Given the description of an element on the screen output the (x, y) to click on. 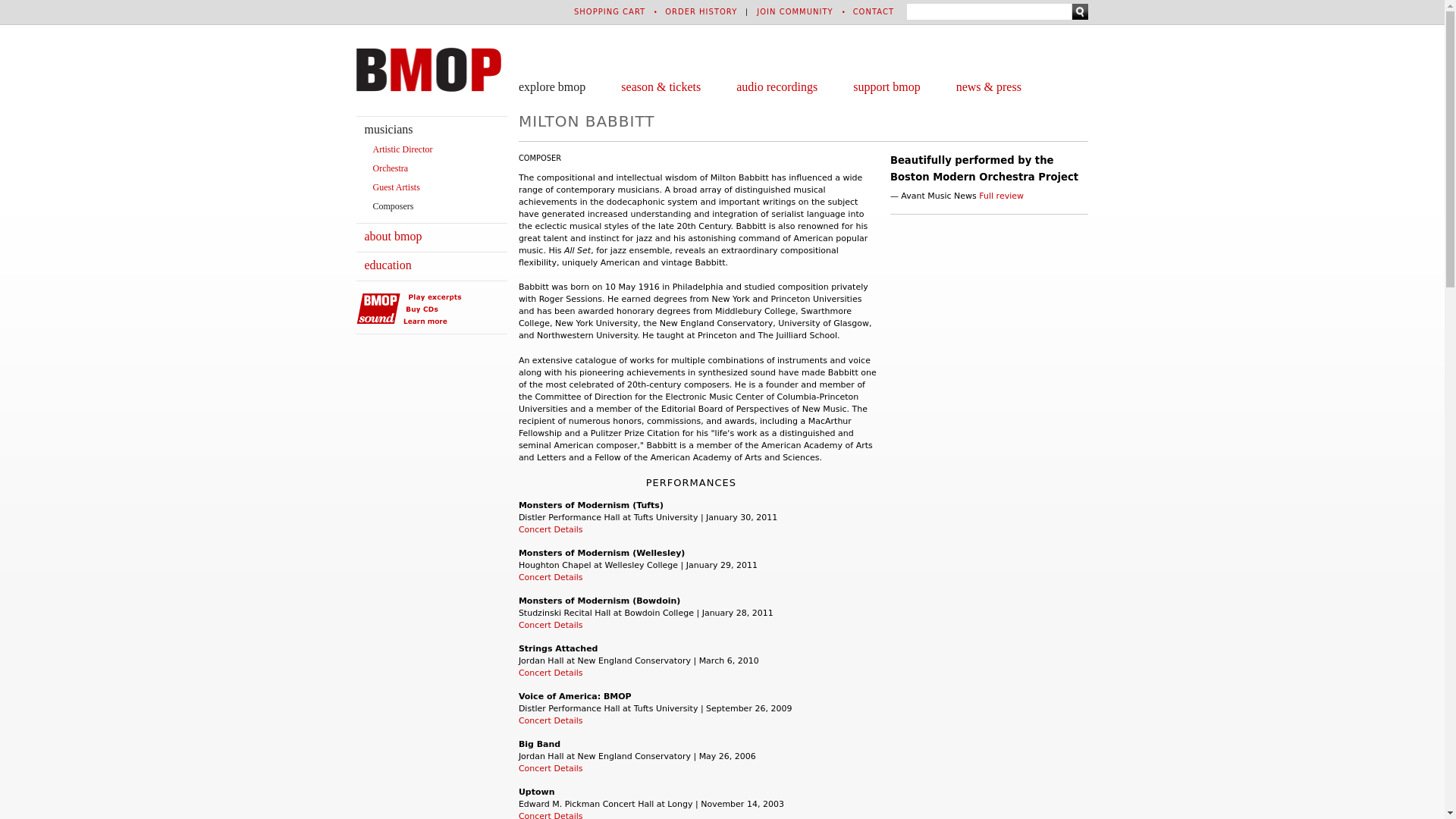
ORDER HISTORY (700, 11)
SHOPPING CART (609, 11)
Search (1079, 11)
Home (428, 69)
Musicians (388, 128)
Big Band (539, 744)
Concert Details (550, 673)
Support BMOP (886, 87)
Uptown (536, 791)
JOIN COMMUNITY (794, 11)
